Given the description of an element on the screen output the (x, y) to click on. 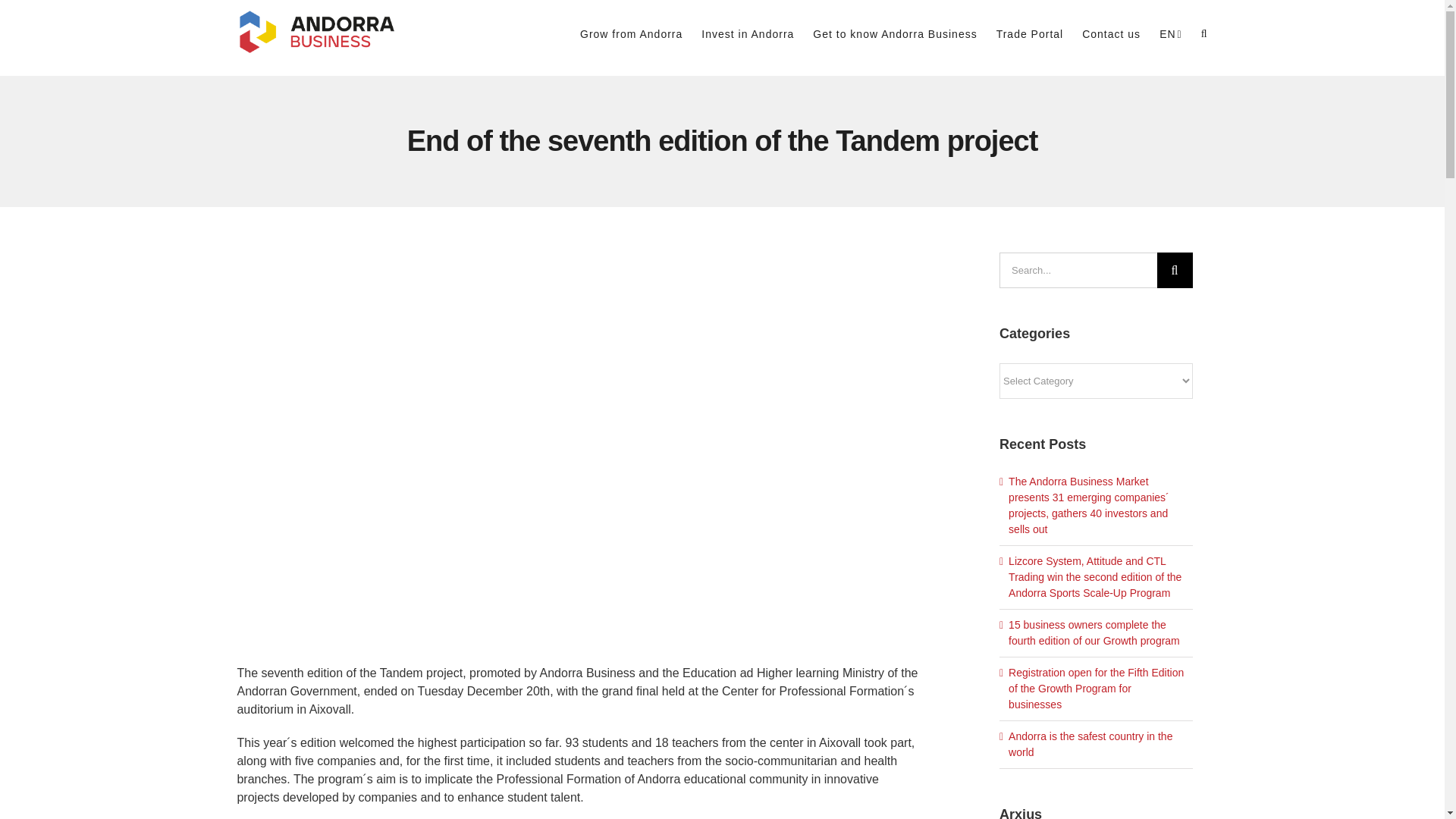
Invest in Andorra (747, 33)
Invest in Andorra (747, 33)
Get to know Andorra Business (894, 33)
Business growth in Andorra (630, 33)
Grow from Andorra (630, 33)
